Given the description of an element on the screen output the (x, y) to click on. 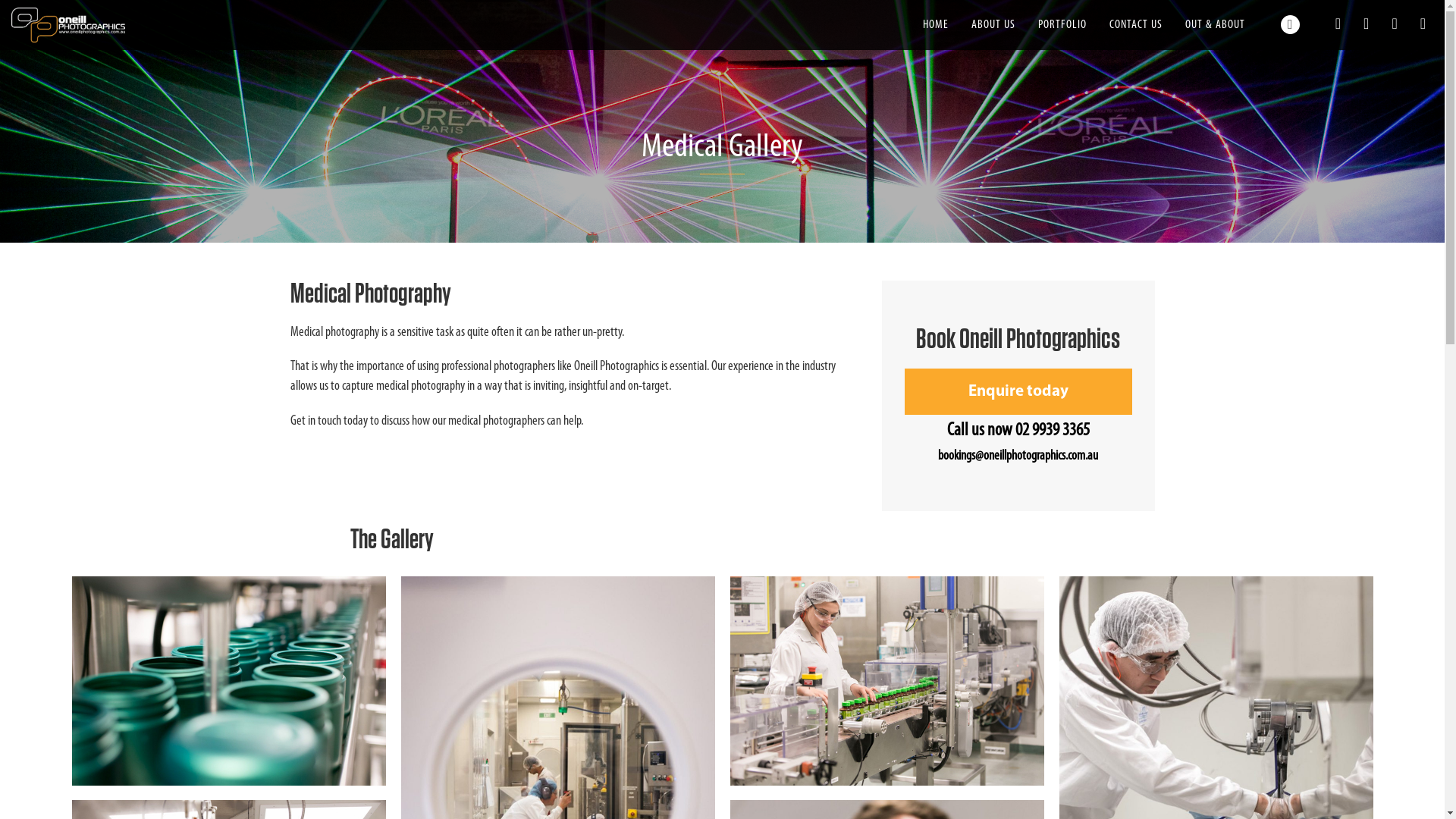
Call us now 02 9939 3365 Element type: text (1017, 430)
CONTACT US Element type: text (1135, 24)
Enquire today Element type: text (1017, 391)
ABOUT US Element type: text (993, 24)
HOME Element type: text (935, 24)
bookings@oneillphotographics.com.au Element type: text (1018, 455)
OUT & ABOUT Element type: text (1215, 24)
PORTFOLIO Element type: text (1062, 24)
